Given the description of an element on the screen output the (x, y) to click on. 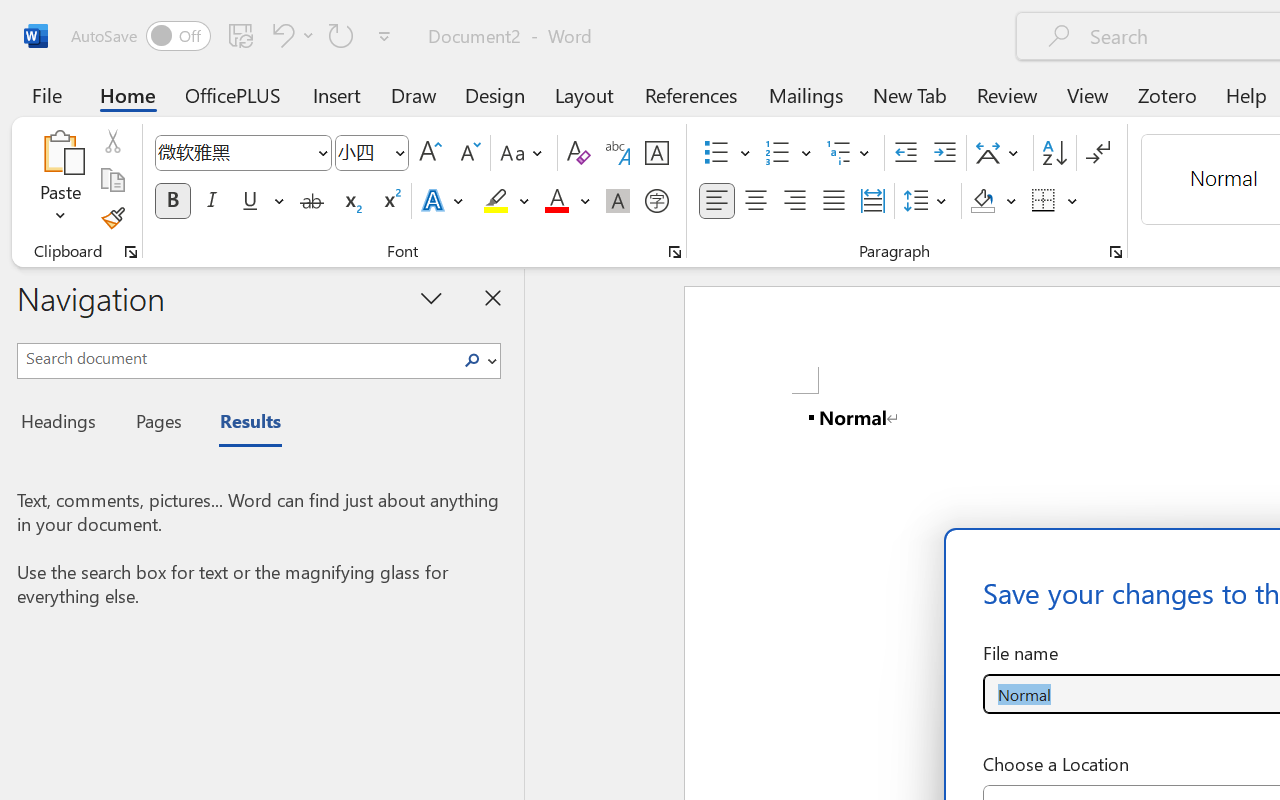
Borders (1044, 201)
Distributed (872, 201)
Copy (112, 179)
Pages (156, 424)
Shading (993, 201)
Results (240, 424)
Repeat Style (341, 35)
Line and Paragraph Spacing (927, 201)
Design (495, 94)
Draw (413, 94)
Underline (261, 201)
Italic (212, 201)
Save (241, 35)
Asian Layout (1000, 153)
Align Right (794, 201)
